Given the description of an element on the screen output the (x, y) to click on. 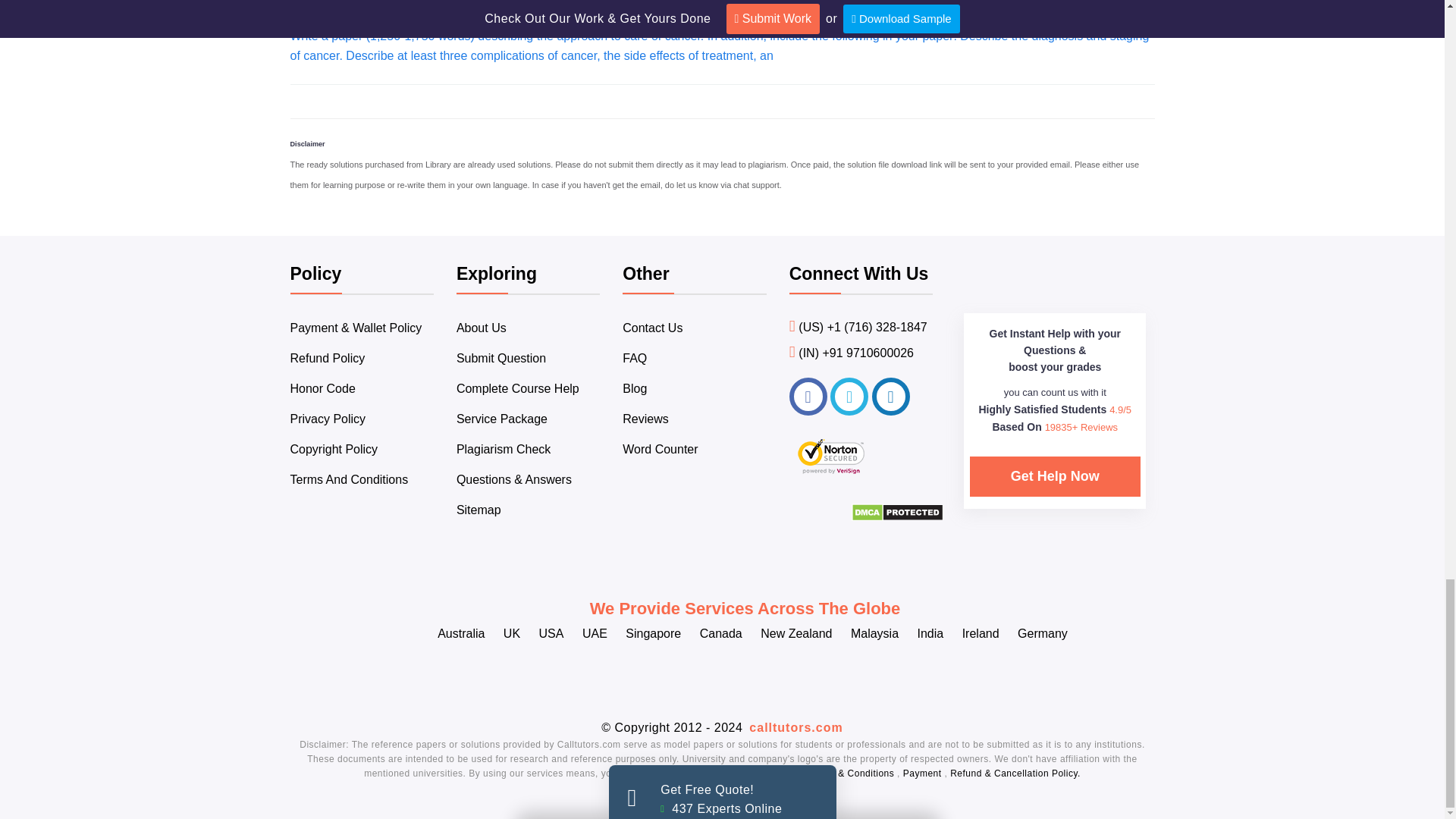
Facebook (808, 396)
Honor Code (322, 388)
Linked In (891, 396)
CallTutors DMCA.com Protection Status (897, 517)
Twitter (848, 396)
Refund Policy (327, 358)
